Given the description of an element on the screen output the (x, y) to click on. 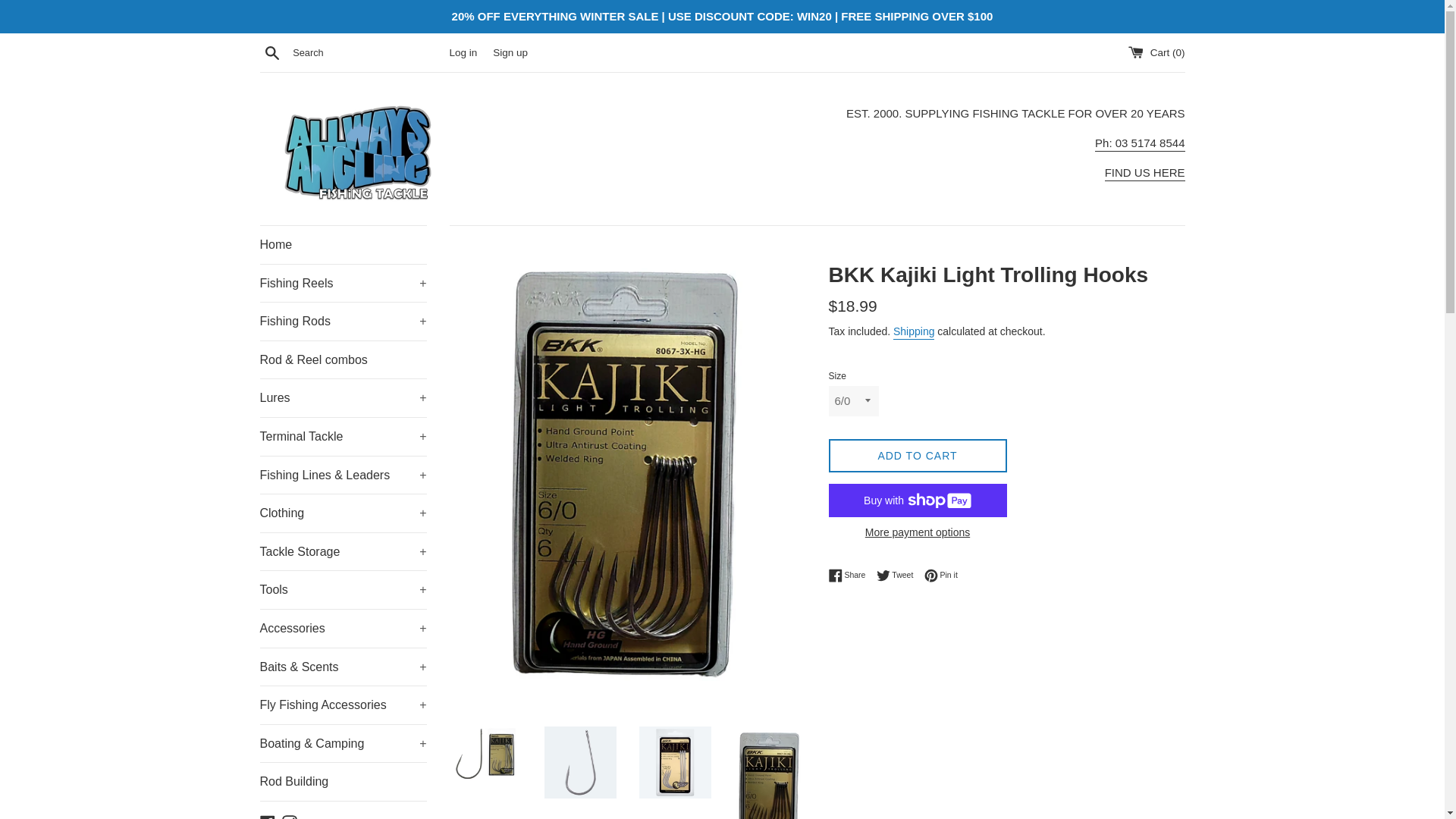
Sign up (510, 52)
Allways Angling on Facebook (267, 816)
Log in (462, 52)
Ph: 03 5174 8544 (1139, 143)
FIND US HERE (1145, 173)
Allways Angling on Instagram (289, 816)
Search (271, 52)
Pin on Pinterest (941, 575)
Home (342, 244)
Tweet on Twitter (898, 575)
Share on Facebook (850, 575)
ALLWAYS ANGLING FISHING STORE TRARALGON (1145, 173)
tel:0351748544 (1139, 143)
